Given the description of an element on the screen output the (x, y) to click on. 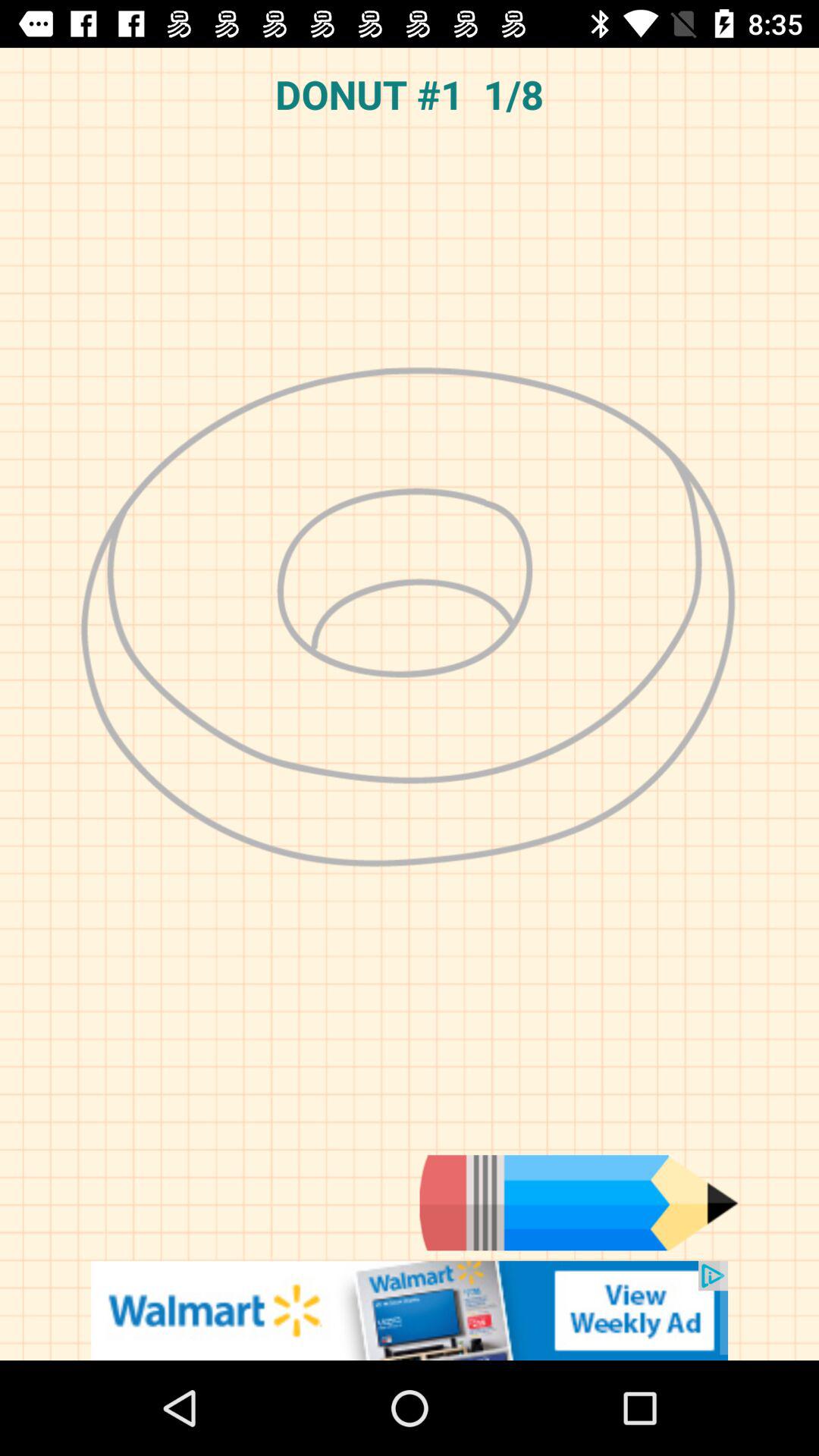
into (578, 1202)
